Given the description of an element on the screen output the (x, y) to click on. 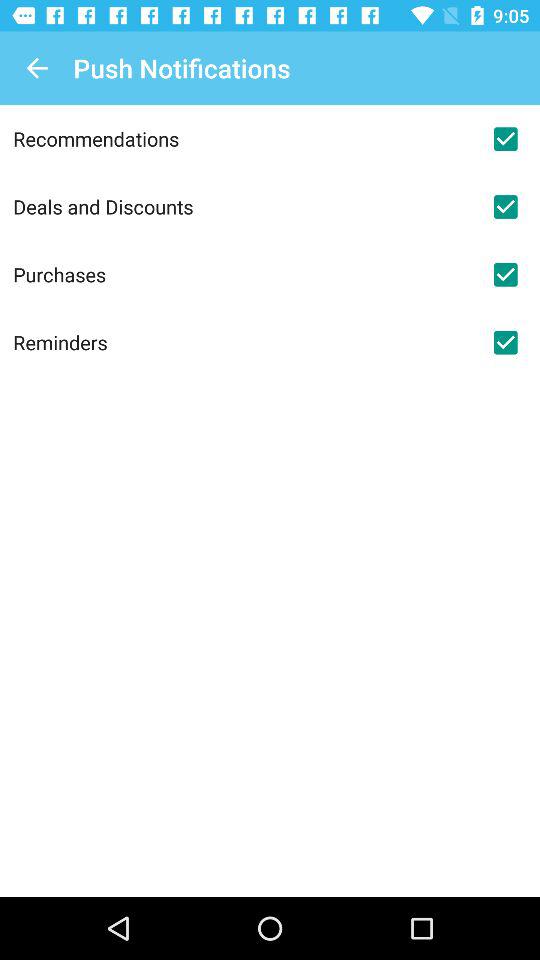
turn on the icon below the purchases item (242, 342)
